Given the description of an element on the screen output the (x, y) to click on. 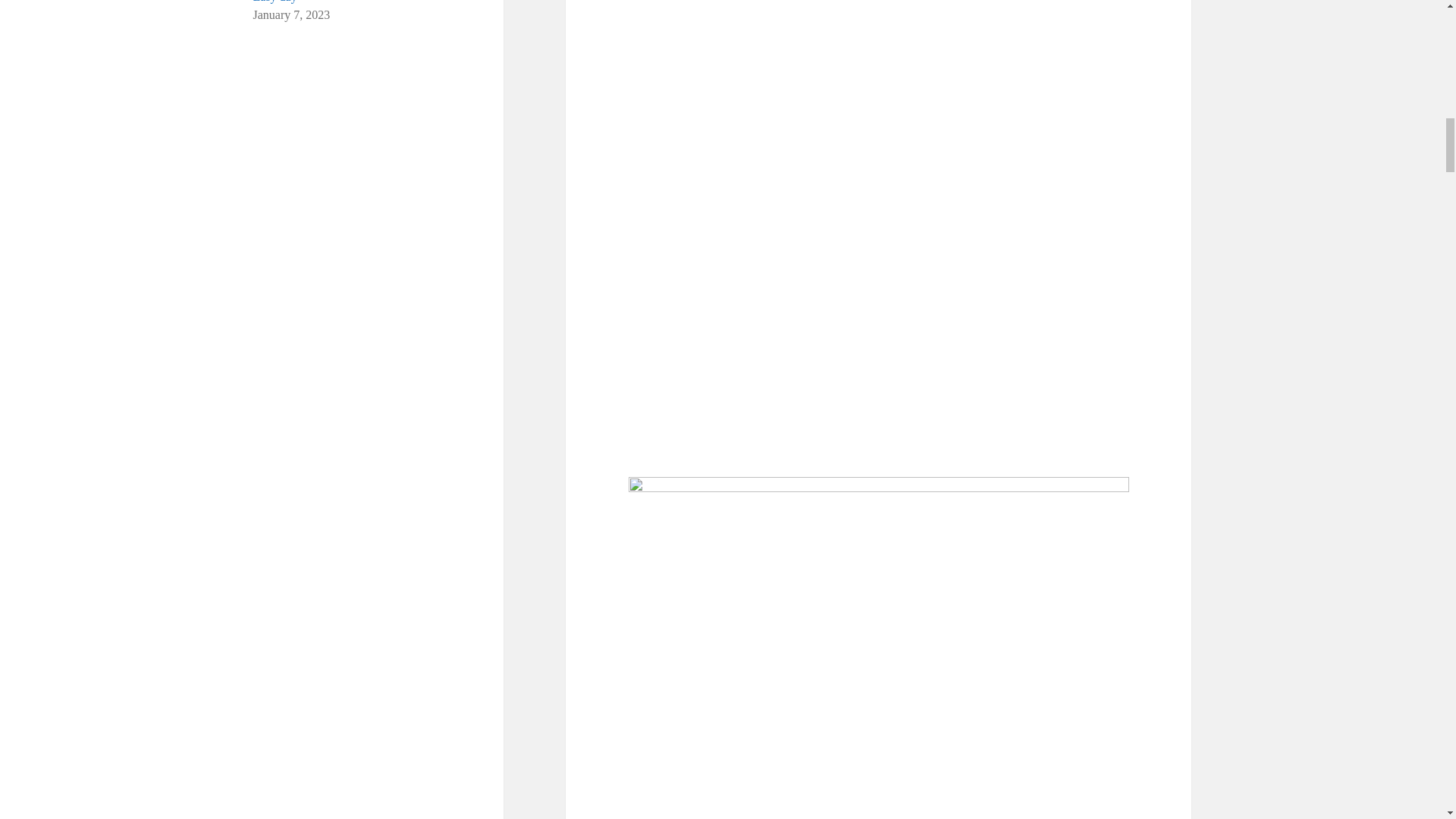
Easy day (275, 1)
